Given the description of an element on the screen output the (x, y) to click on. 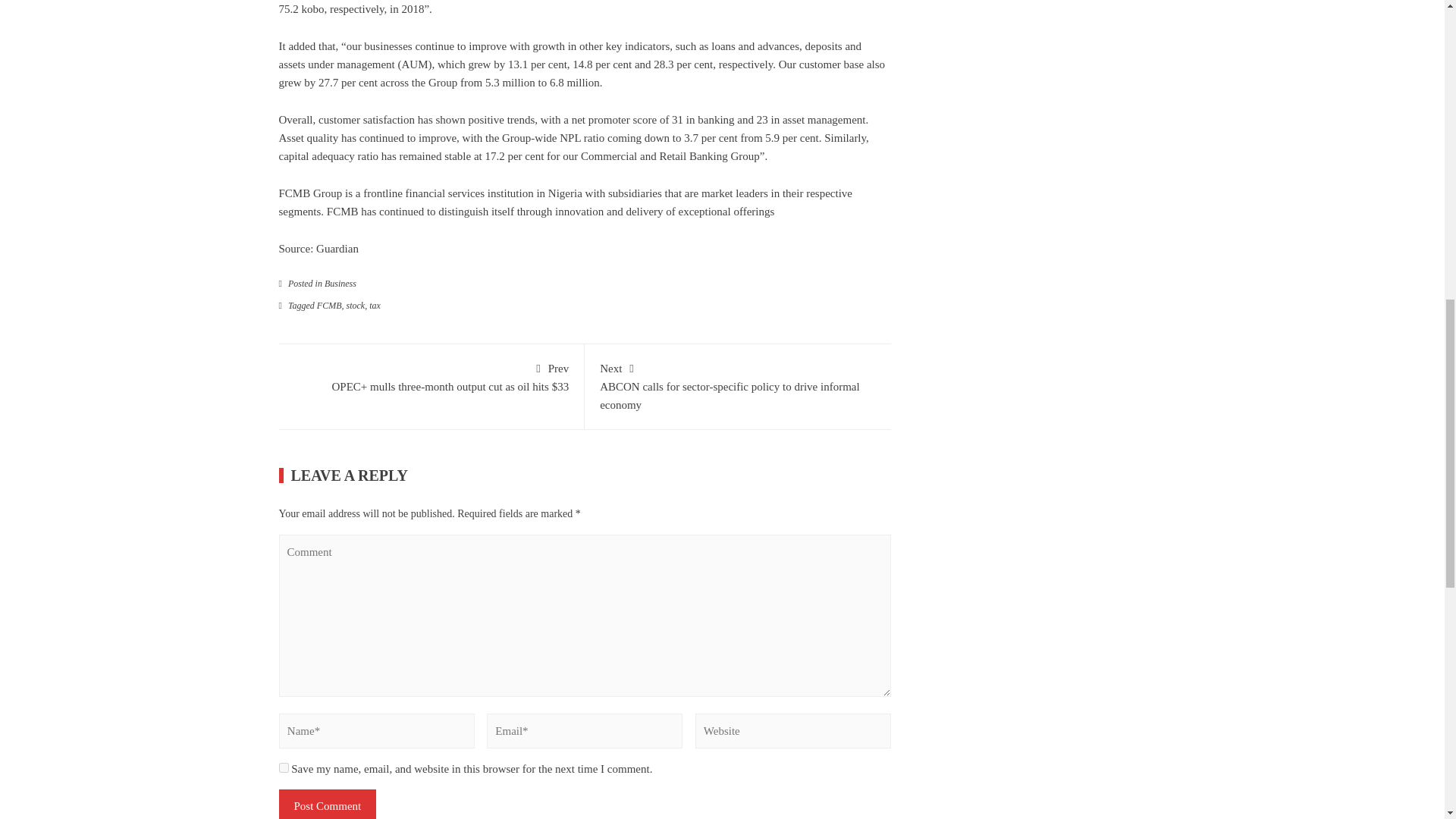
stock (355, 305)
yes (283, 767)
Post Comment (328, 804)
Post Comment (328, 804)
tax (374, 305)
FCMB (329, 305)
Business (340, 283)
